Given the description of an element on the screen output the (x, y) to click on. 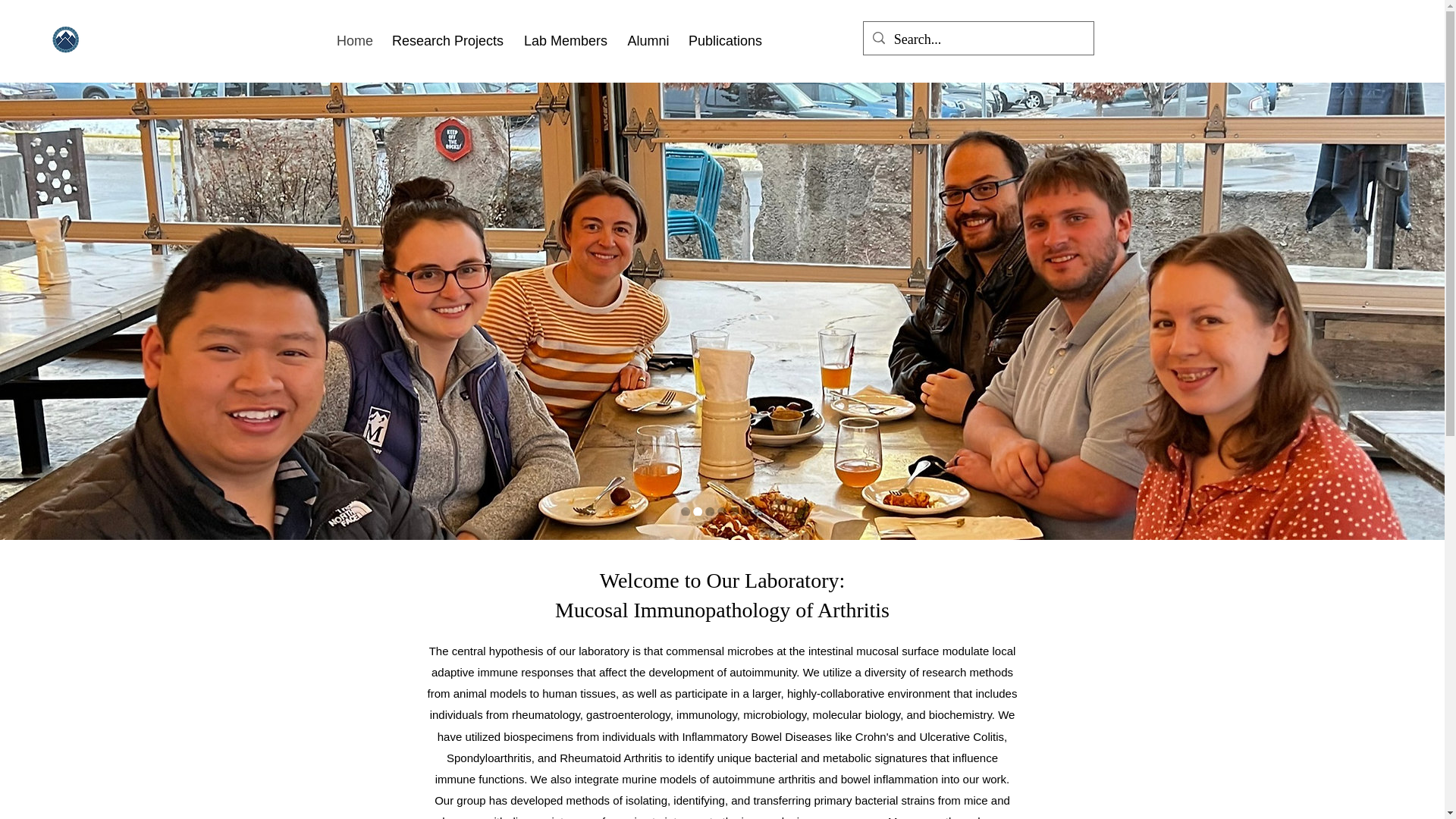
Lab Members (565, 40)
Home (354, 40)
Publications (724, 40)
Research Projects (447, 40)
Alumni (647, 40)
